Given the description of an element on the screen output the (x, y) to click on. 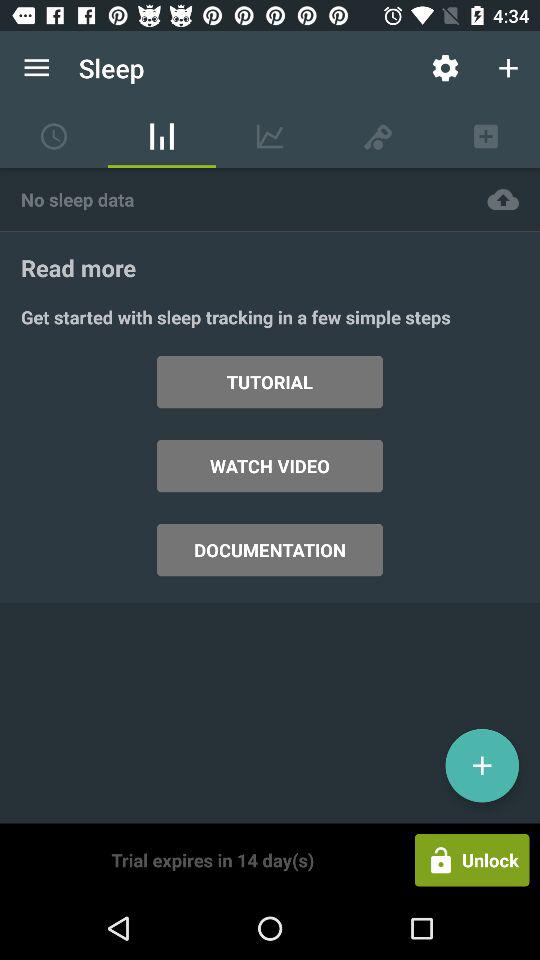
select item below tutorial (269, 465)
